Given the description of an element on the screen output the (x, y) to click on. 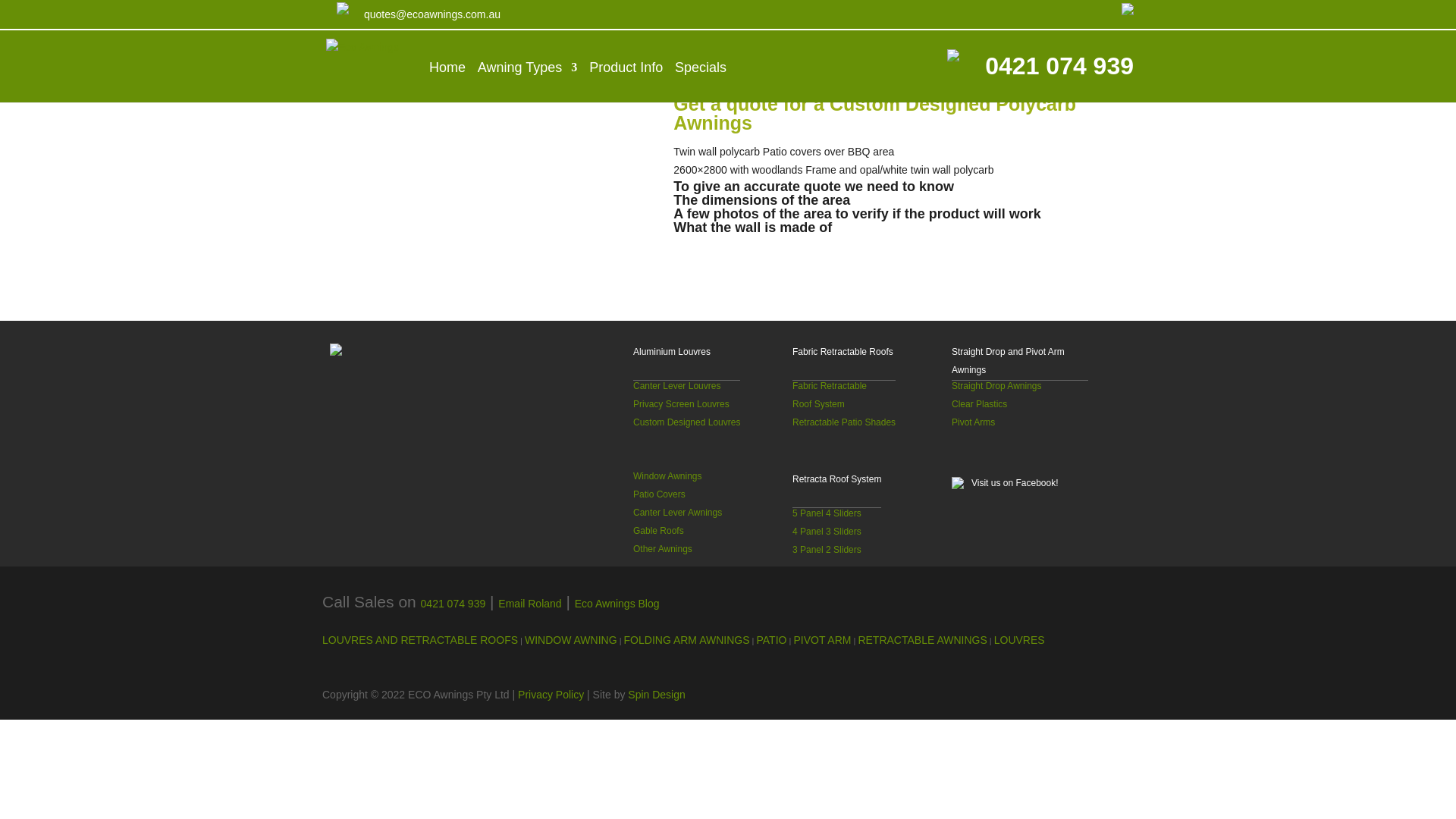
Straight Drop Awnings Element type: text (996, 385)
Specials Element type: text (700, 67)
PATIO Element type: text (771, 639)
Roof System Element type: text (818, 403)
LOUVRES Element type: text (1019, 639)
FOLDING ARM AWNINGS Element type: text (686, 639)
Product Info Element type: text (625, 67)
Awning Types Element type: text (527, 67)
LOUVRES AND RETRACTABLE ROOFS Element type: text (419, 639)
Window Awnings Element type: text (667, 475)
PIVOT ARM Element type: text (821, 639)
Privacy Policy Element type: text (550, 694)
Email Roland Element type: text (529, 603)
0421 074 939 Element type: text (453, 603)
Canter lever polycarb awning with 3 side 7 Element type: hover (501, 187)
Custom Designed Louvres Element type: text (686, 422)
Fabric Retractable Element type: text (829, 385)
Visit us on Facebook! Element type: text (1019, 462)
Other Awnings Element type: text (662, 548)
RETRACTABLE AWNINGS Element type: text (921, 639)
Spin Design Element type: text (656, 694)
quotes@ecoawnings.com.au Element type: text (432, 13)
Gable Roofs Element type: text (658, 530)
0421 074 939 Element type: text (1059, 65)
Home Element type: text (447, 67)
4 Panel 3 Sliders Element type: text (826, 531)
WINDOW AWNING Element type: text (570, 639)
5 Panel 4 Sliders Element type: text (826, 513)
Eco Awnings Blog Element type: text (616, 603)
Pivot Arms Element type: text (972, 422)
Clear Plastics Element type: text (979, 403)
Canter Lever Awnings Element type: text (677, 512)
Patio Covers Element type: text (659, 494)
Retractable Patio Shades Element type: text (843, 422)
Canter Lever Louvres Element type: text (676, 385)
3 Panel 2 Sliders Element type: text (826, 549)
Privacy Screen Louvres Element type: text (681, 403)
